Given the description of an element on the screen output the (x, y) to click on. 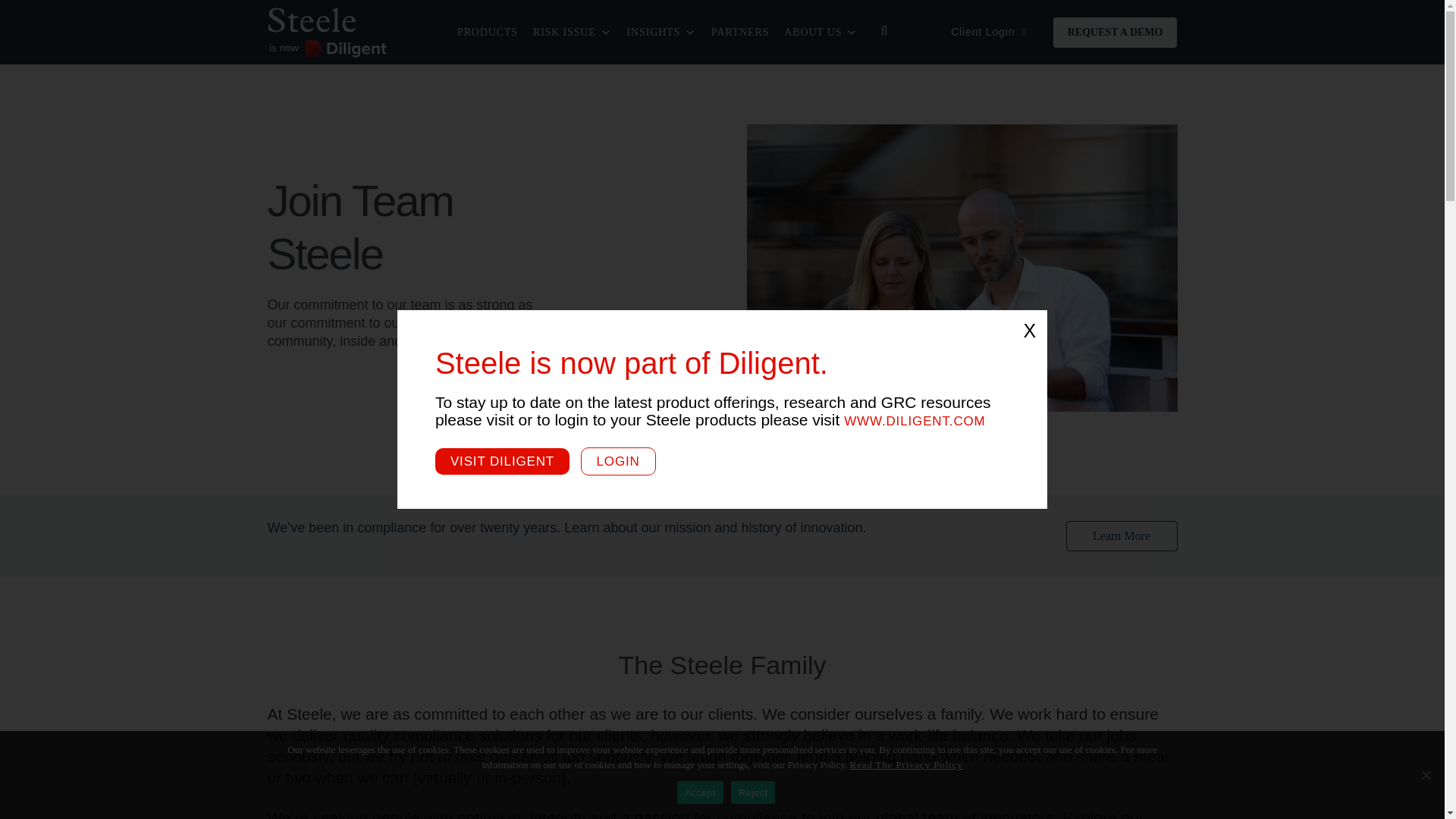
ABOUT US (820, 31)
Client Login (988, 31)
RISK ISSUE (572, 31)
PRODUCTS (487, 31)
INSIGHTS (661, 31)
PARTNERS (739, 31)
REQUEST A DEMO (1114, 31)
